Given the description of an element on the screen output the (x, y) to click on. 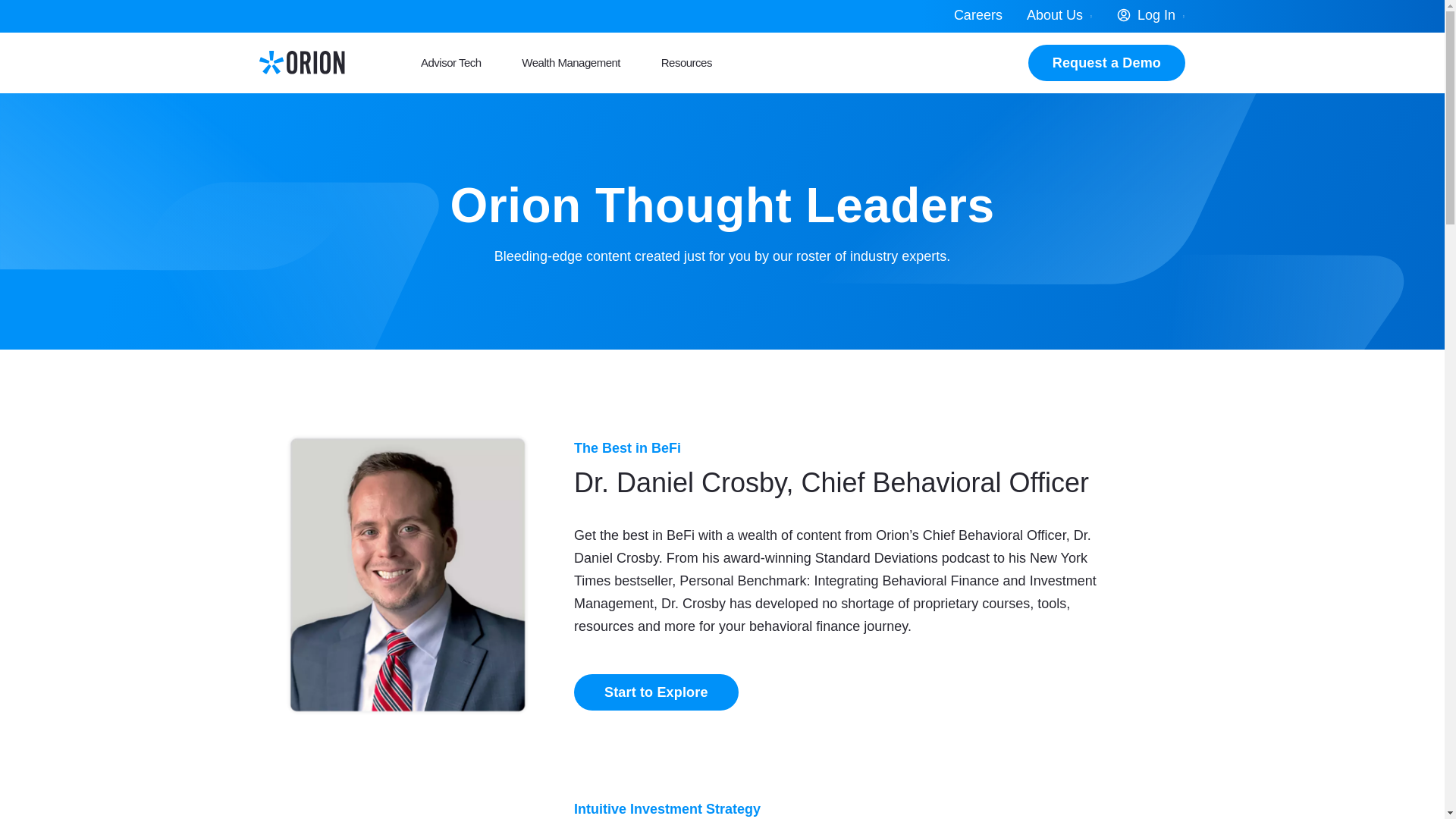
About Us (1059, 16)
Careers (978, 16)
Log In (1150, 16)
Advisor Tech (450, 63)
